Given the description of an element on the screen output the (x, y) to click on. 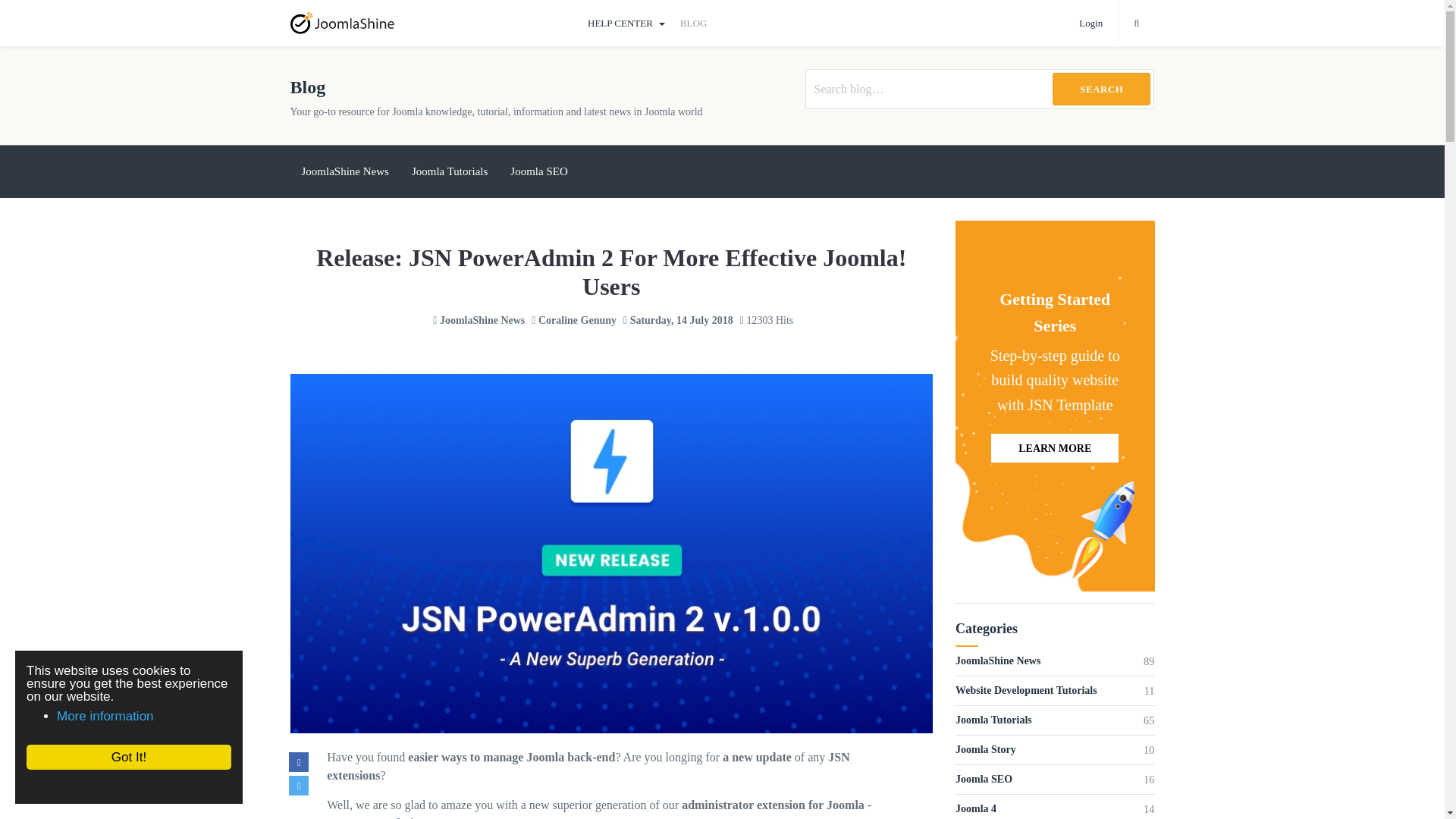
BLOG (693, 22)
JoomlaShine News (481, 319)
JoomlaShine News (343, 171)
SEARCH (1101, 88)
HELP CENTER (625, 22)
More information (90, 715)
Joomla SEO (538, 171)
Coraline Genuny (576, 319)
Login to Customer Area (1091, 22)
Joomla Tutorials (449, 171)
Login (1091, 22)
JoomlaShine (429, 23)
Got It! (114, 756)
